Given the description of an element on the screen output the (x, y) to click on. 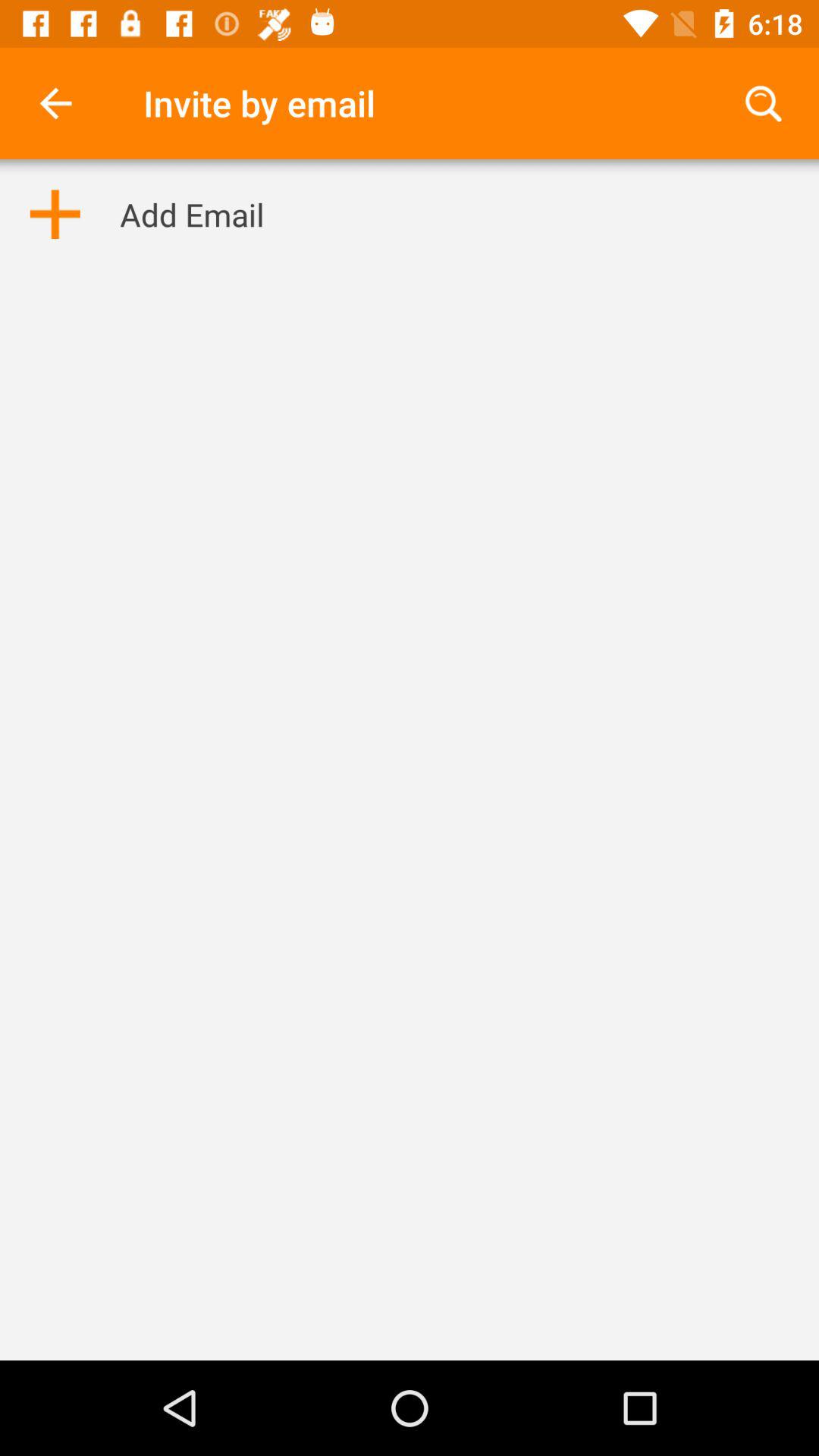
jump until add email item (192, 214)
